Given the description of an element on the screen output the (x, y) to click on. 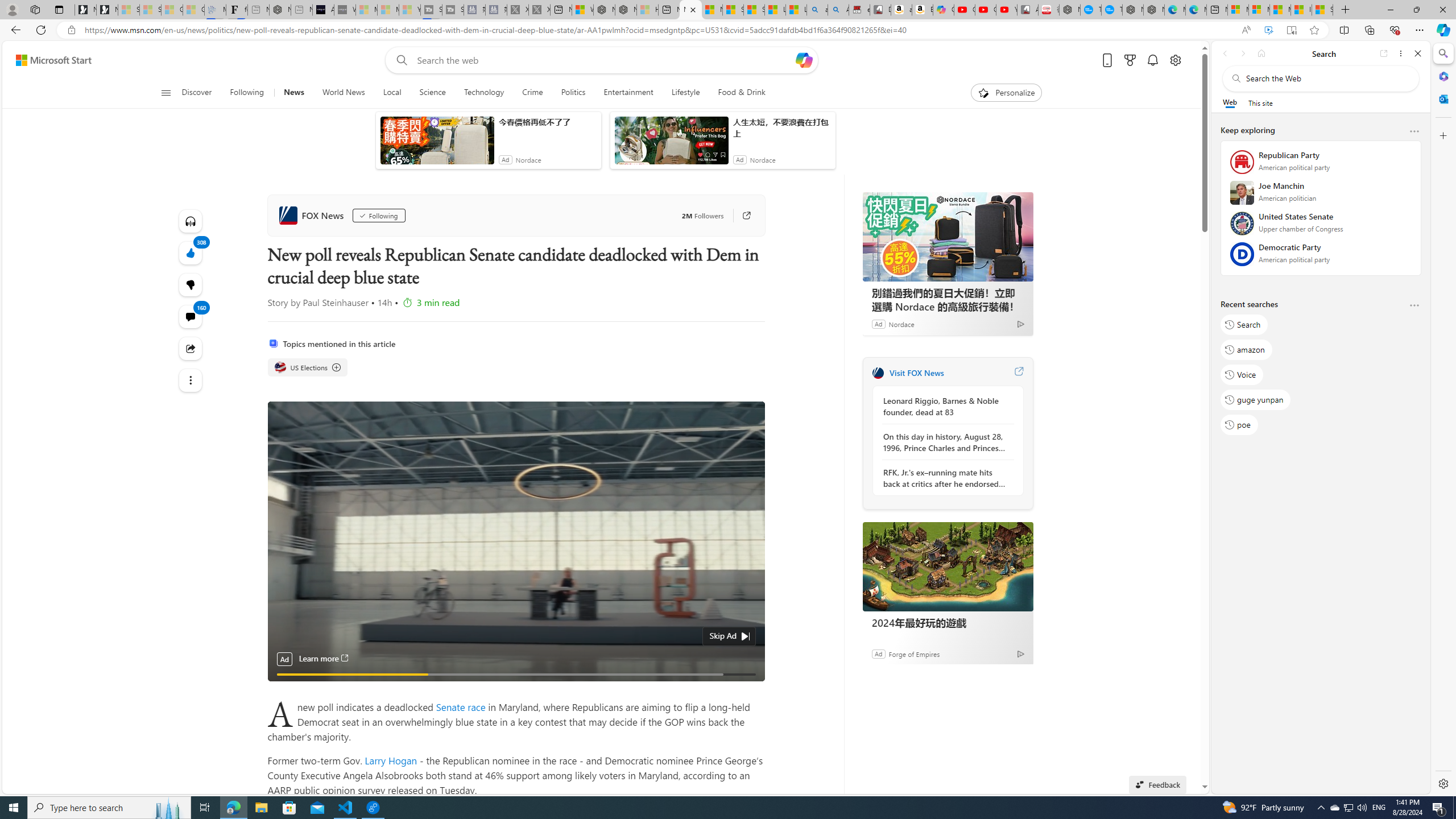
Lifestyle (685, 92)
Entertainment (627, 92)
Recent searchesSearchamazonVoiceguge yunpanpoe (1320, 369)
Web search (398, 60)
Larry Hogan (390, 759)
Amazon Echo Dot PNG - Search Images (837, 9)
